Given the description of an element on the screen output the (x, y) to click on. 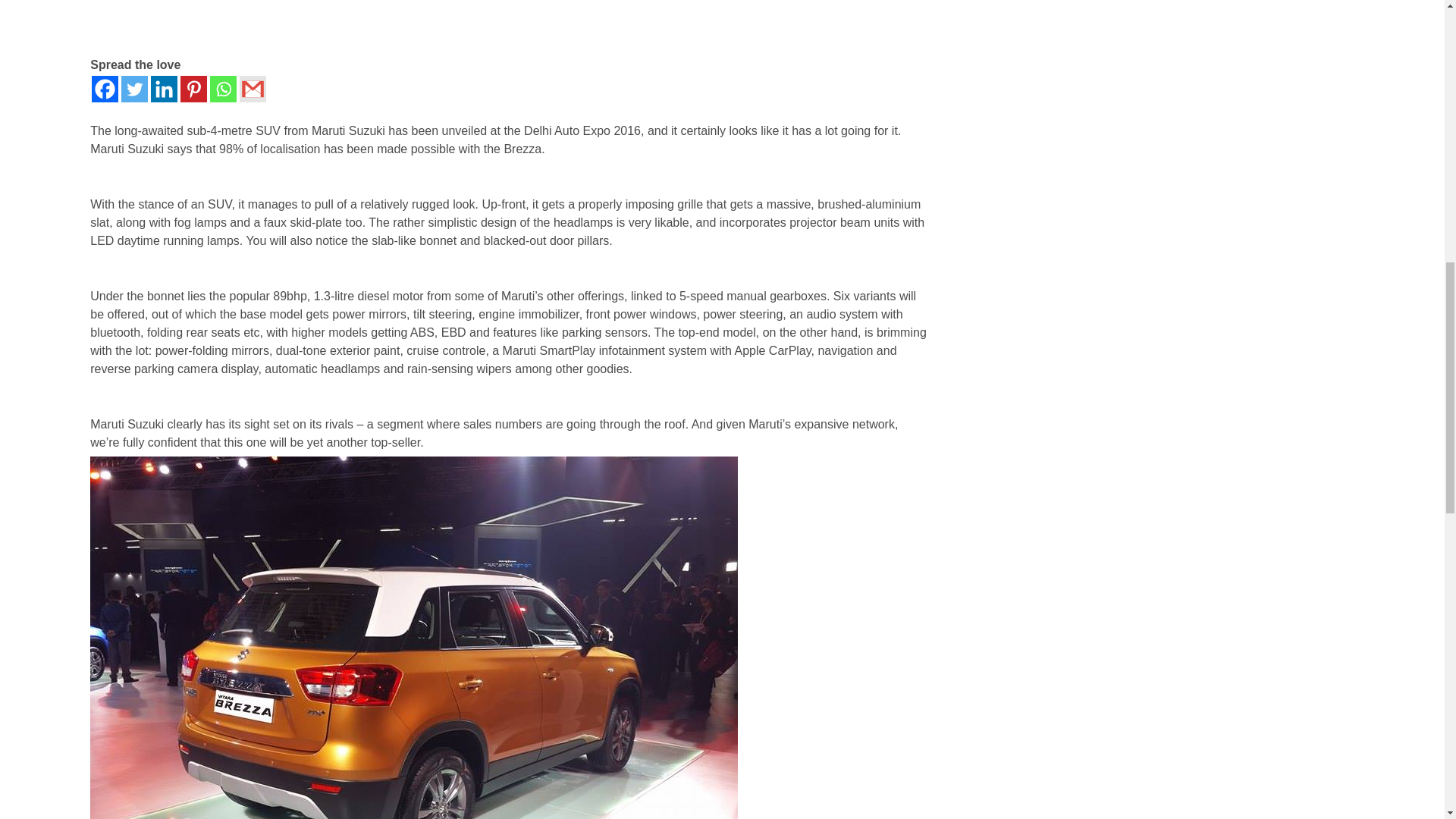
Pinterest (193, 89)
Linkedin (164, 89)
Whatsapp (222, 89)
Google Gmail (253, 89)
Facebook (104, 89)
Twitter (134, 89)
